Given the description of an element on the screen output the (x, y) to click on. 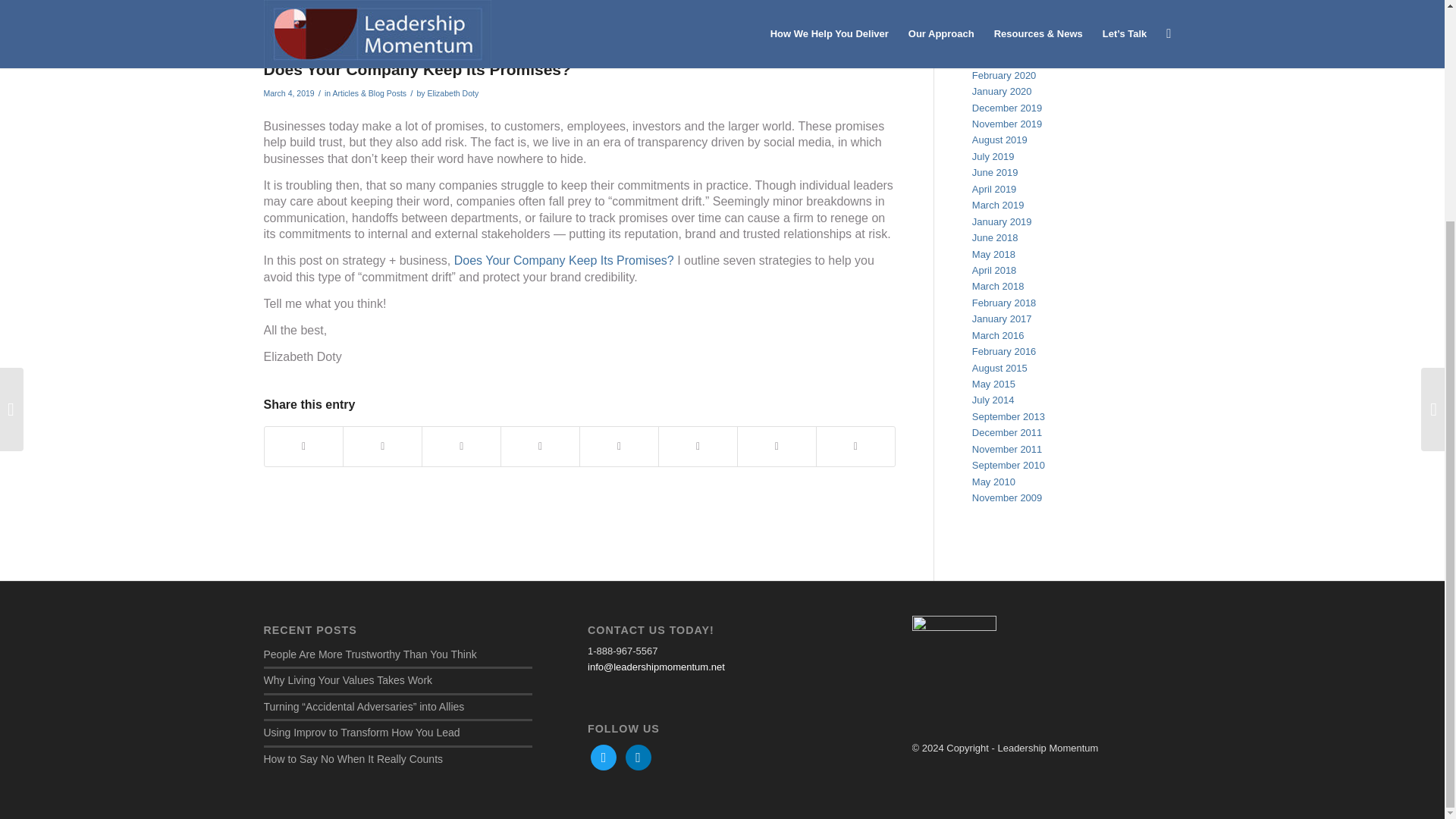
August 2019 (999, 139)
April 2019 (994, 188)
June 2020 (994, 42)
November 2019 (1007, 123)
January 2020 (1002, 91)
Does Your Company Keep Its Promises? (564, 259)
June 2019 (994, 172)
Does Your Company Keep Its Promises? (579, 25)
April 2020 (994, 58)
July 2019 (993, 156)
March 2019 (998, 204)
Twitter (603, 756)
February 2020 (1004, 75)
December 2019 (1007, 107)
Elizabeth Doty (452, 92)
